Given the description of an element on the screen output the (x, y) to click on. 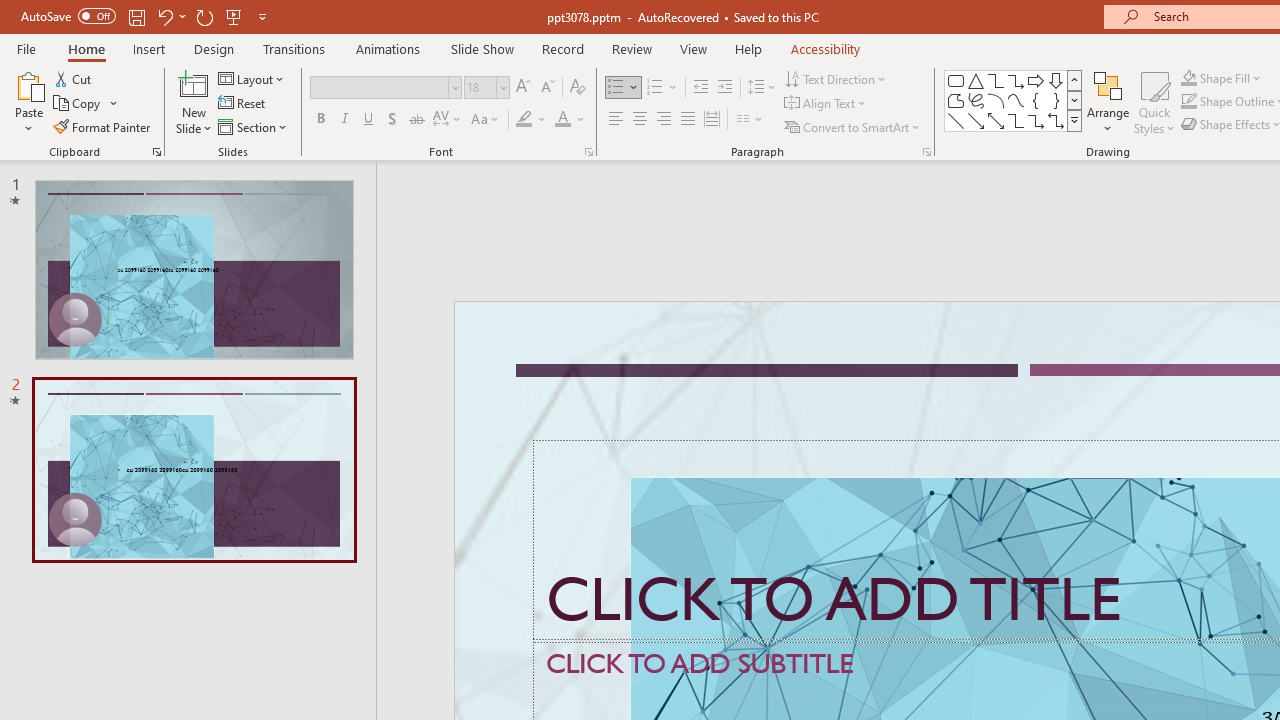
Shape Outline Green, Accent 1 (1188, 101)
